Given the description of an element on the screen output the (x, y) to click on. 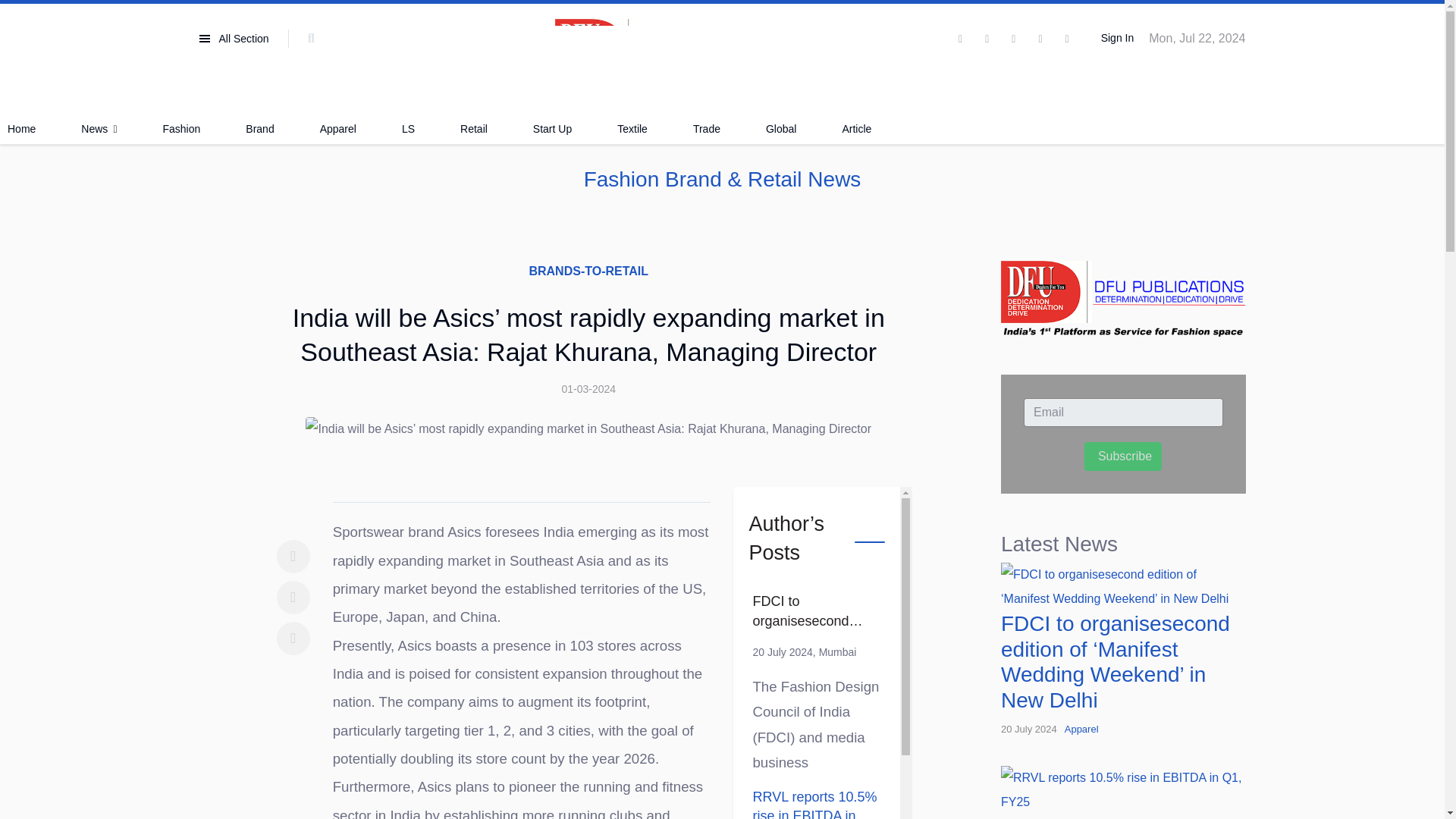
Twitter (293, 597)
Facebook (293, 556)
Published: 01 March 2024 (587, 389)
Sign In (1115, 38)
LinkedIn (293, 638)
Category: Brands-To-Retail (587, 271)
